Given the description of an element on the screen output the (x, y) to click on. 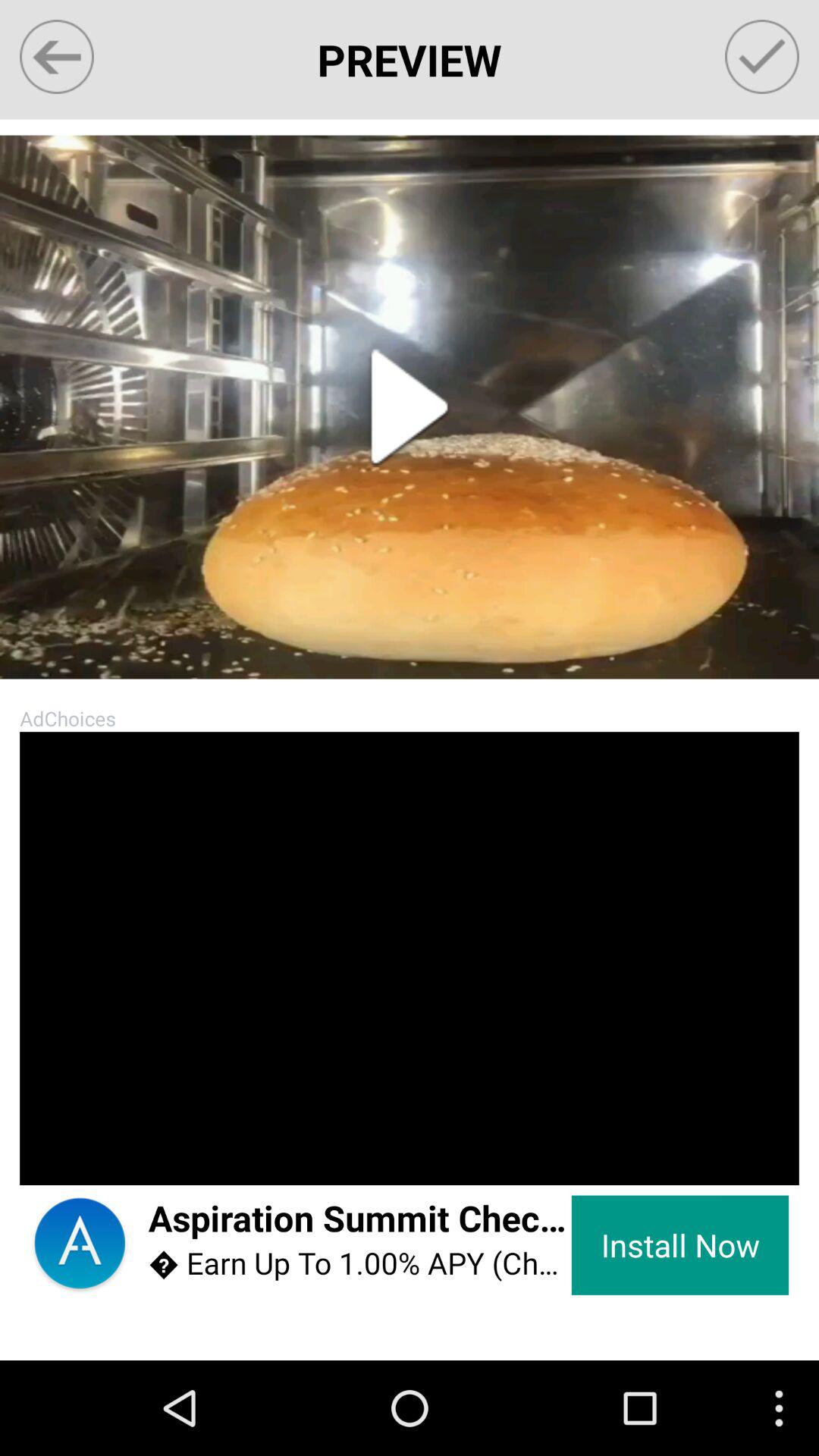
press icon to the left of the aspiration summit checking item (79, 1245)
